Given the description of an element on the screen output the (x, y) to click on. 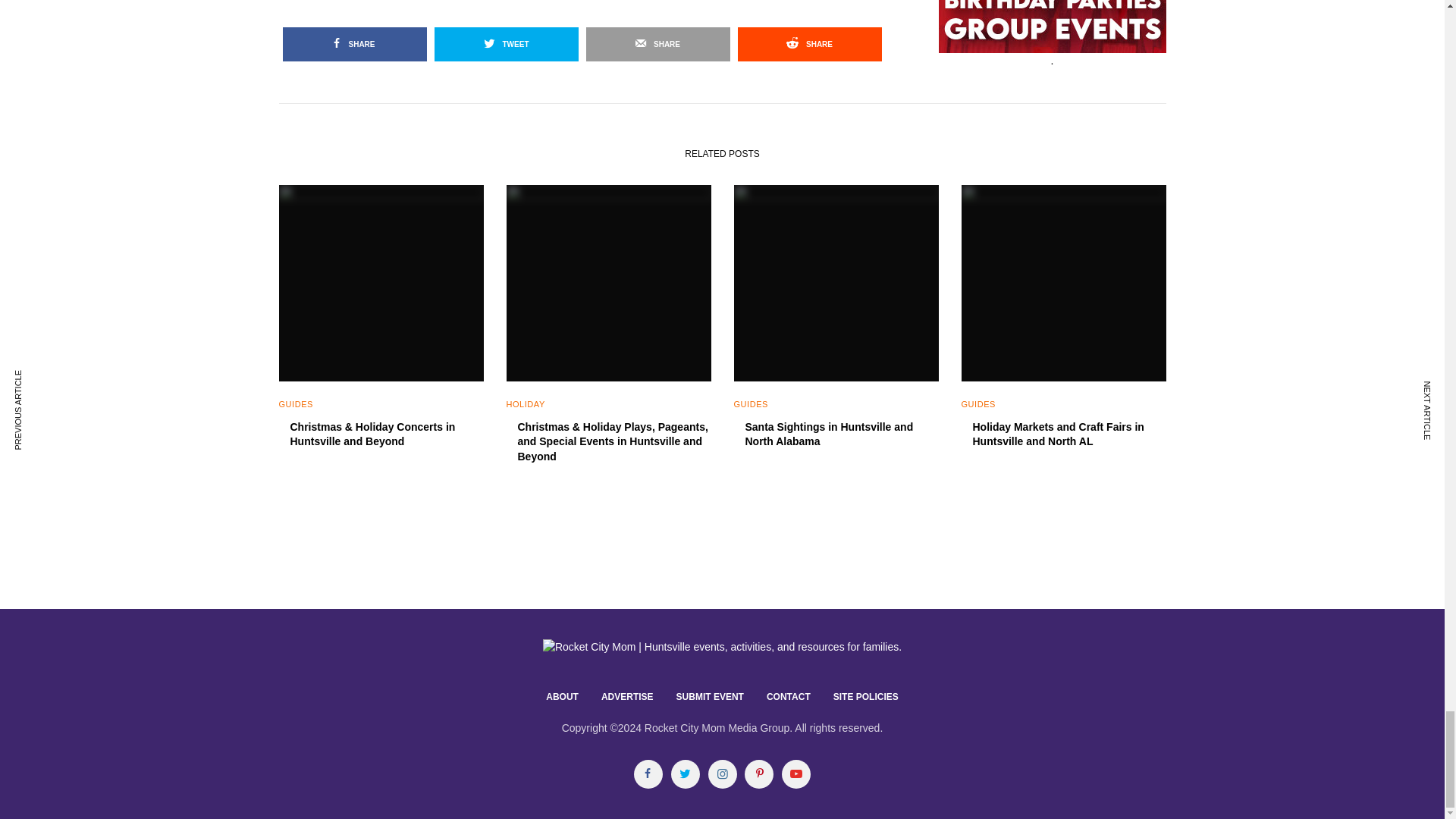
Holiday Markets and Craft Fairs in Huntsville and North AL (1069, 434)
Santa Sightings in Huntsville and North Alabama (840, 434)
